Given the description of an element on the screen output the (x, y) to click on. 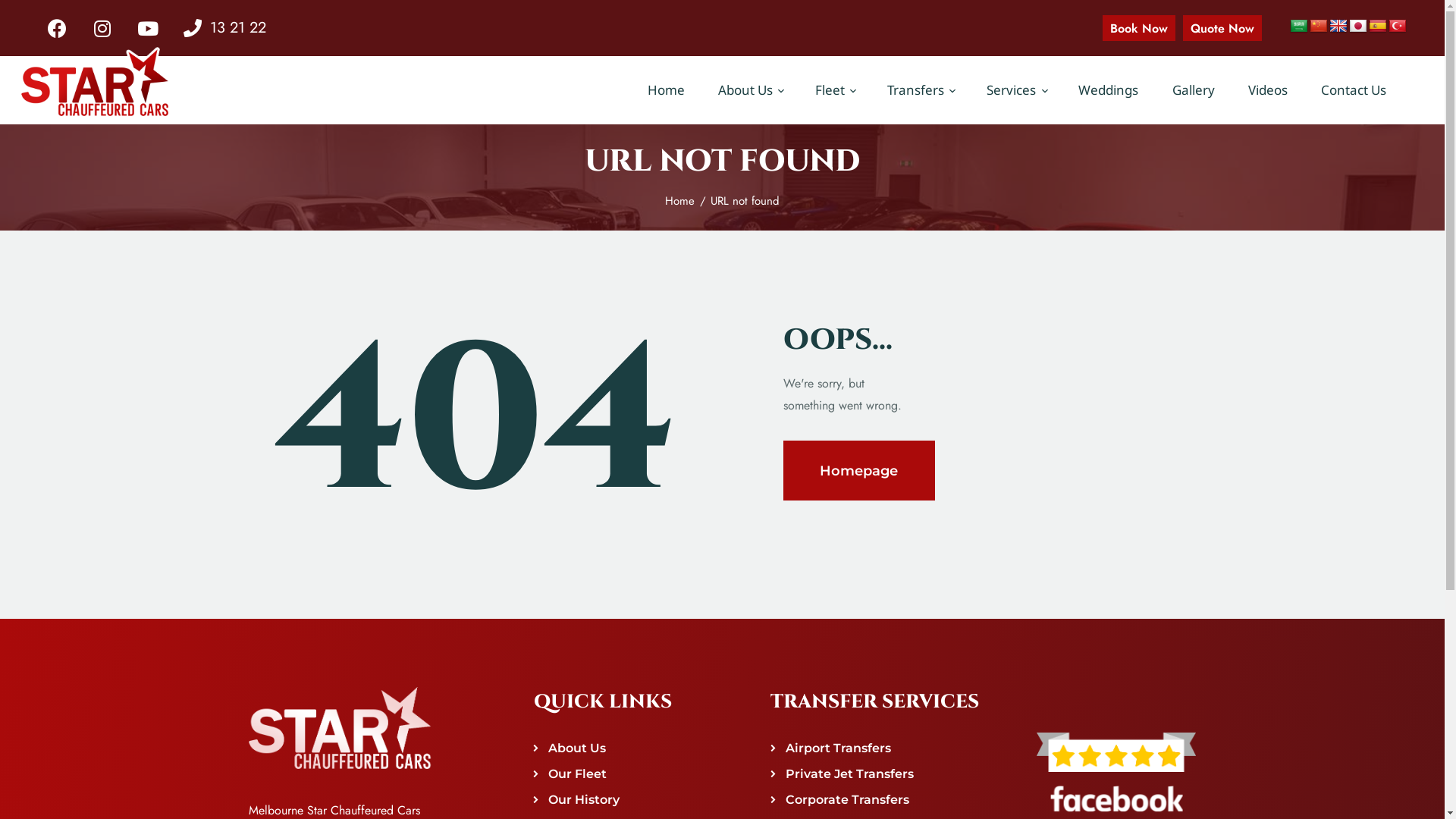
Quote Now Element type: text (1222, 27)
Airport Transfers Element type: text (838, 747)
Transfers Element type: text (919, 89)
Spanish Element type: hover (1377, 26)
Contact Us Element type: text (1353, 89)
Private Jet Transfers Element type: text (849, 773)
Our History Element type: text (583, 799)
Chinese (Simplified) Element type: hover (1318, 26)
Gallery Element type: text (1192, 89)
Corporate Transfers Element type: text (847, 799)
About Us Element type: text (749, 89)
Videos Element type: text (1267, 89)
Arabic Element type: hover (1298, 26)
Home Element type: text (665, 89)
Turkish Element type: hover (1397, 26)
Book Now Element type: text (1138, 27)
Homepage Element type: text (858, 470)
Our Fleet Element type: text (577, 773)
Fleet Element type: text (834, 89)
English Element type: hover (1338, 26)
13 21 22 Element type: text (224, 27)
Japanese Element type: hover (1358, 26)
Services Element type: text (1015, 89)
About Us Element type: text (576, 747)
Home Element type: text (679, 200)
Weddings Element type: text (1107, 89)
